Given the description of an element on the screen output the (x, y) to click on. 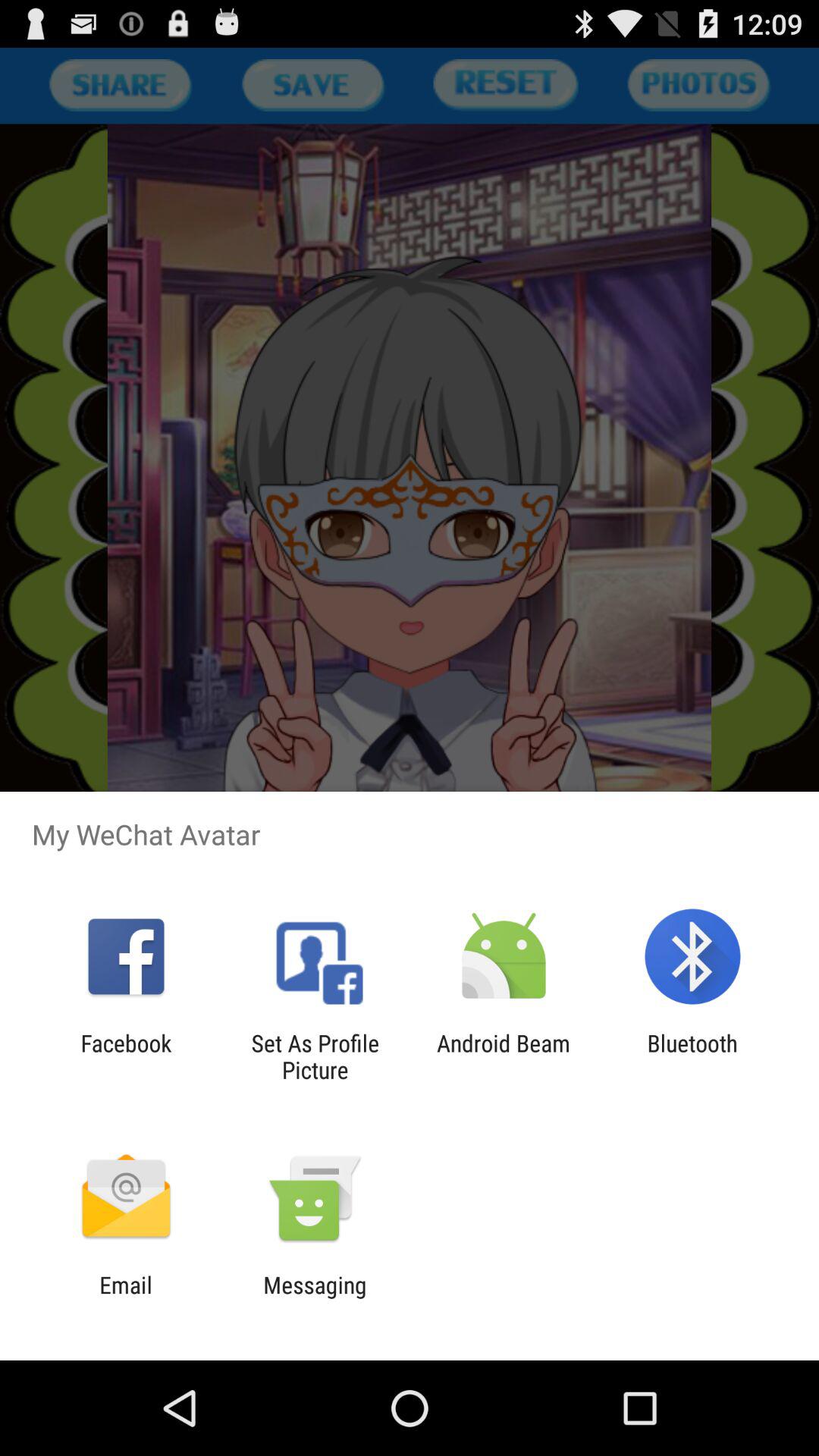
jump until the android beam icon (503, 1056)
